Given the description of an element on the screen output the (x, y) to click on. 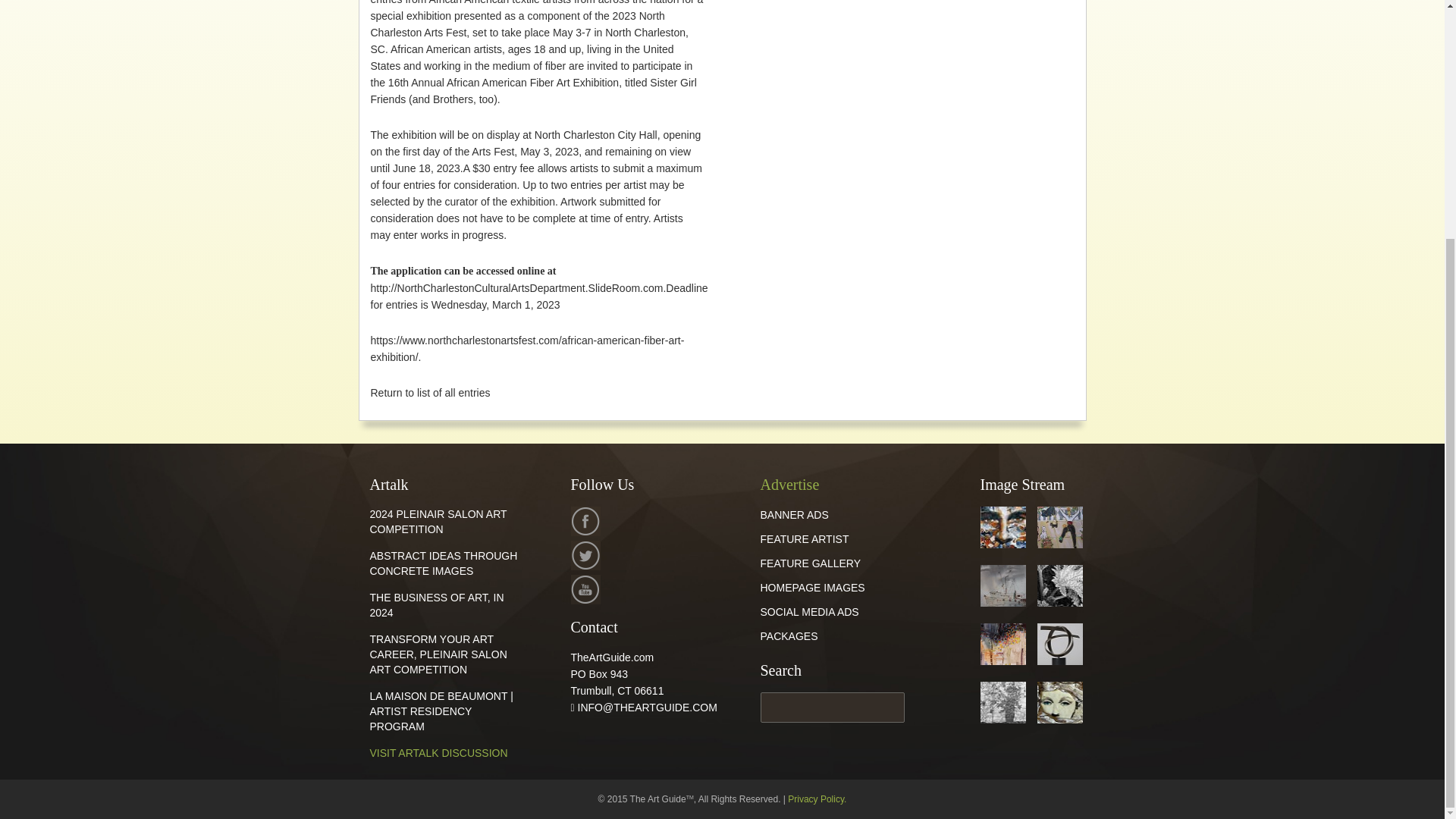
FEATURE GALLERY (810, 563)
SOCIAL MEDIA ADS (809, 612)
PACKAGES (788, 635)
Return to list of all entries (429, 392)
TRANSFORM YOUR ART CAREER, PLEINAIR SALON ART COMPETITION (437, 654)
VISIT ARTALK DISCUSSION (438, 752)
HOMEPAGE IMAGES (812, 587)
2024 PLEINAIR SALON ART COMPETITION (437, 521)
THE BUSINESS OF ART, IN 2024 (436, 605)
BANNER ADS (794, 514)
FEATURE ARTIST (804, 539)
ABSTRACT IDEAS THROUGH CONCRETE IMAGES (443, 563)
